Given the description of an element on the screen output the (x, y) to click on. 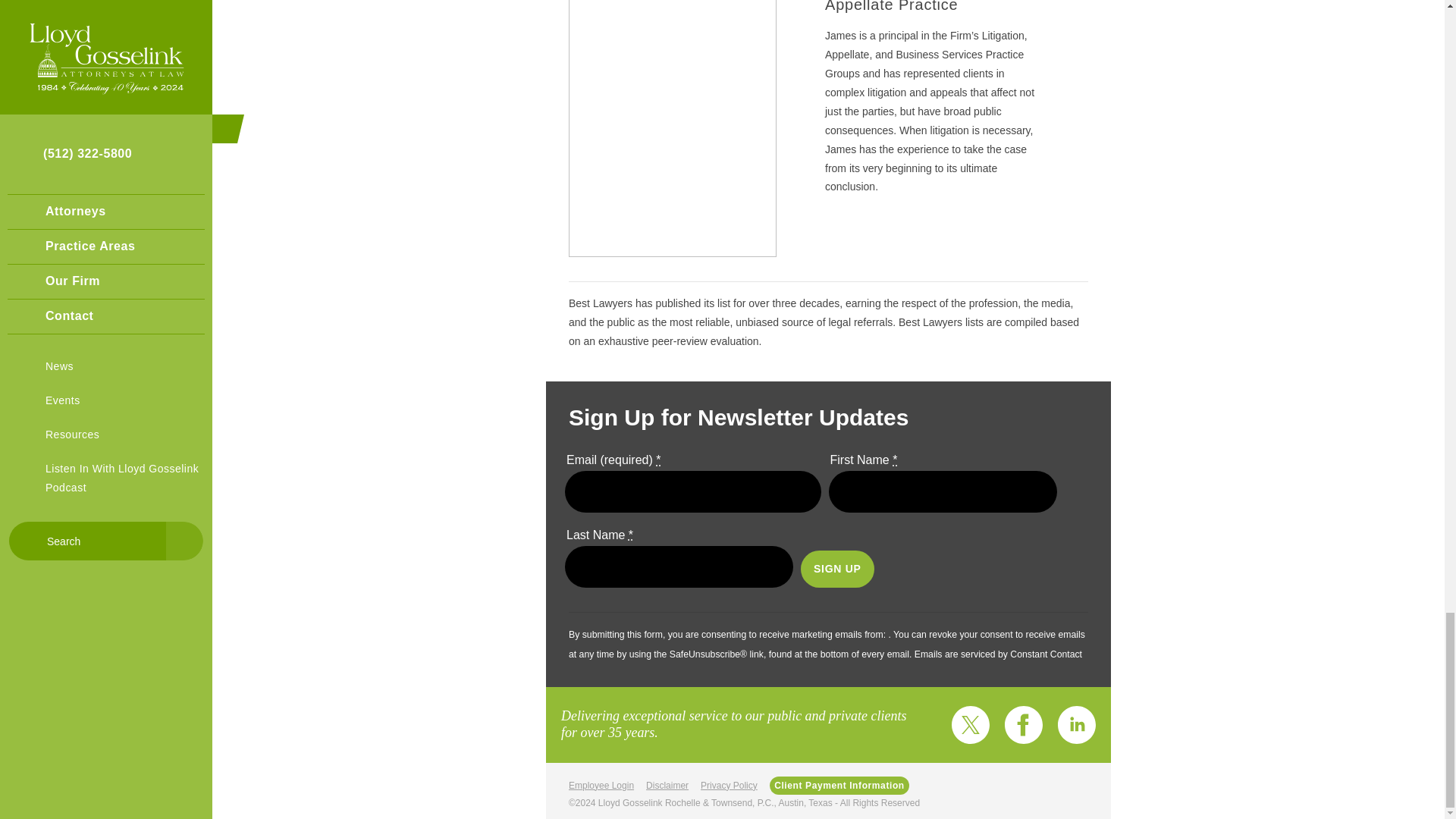
Sign up (836, 569)
Sign up (836, 569)
Emails are serviced by Constant Contact (997, 654)
